Given the description of an element on the screen output the (x, y) to click on. 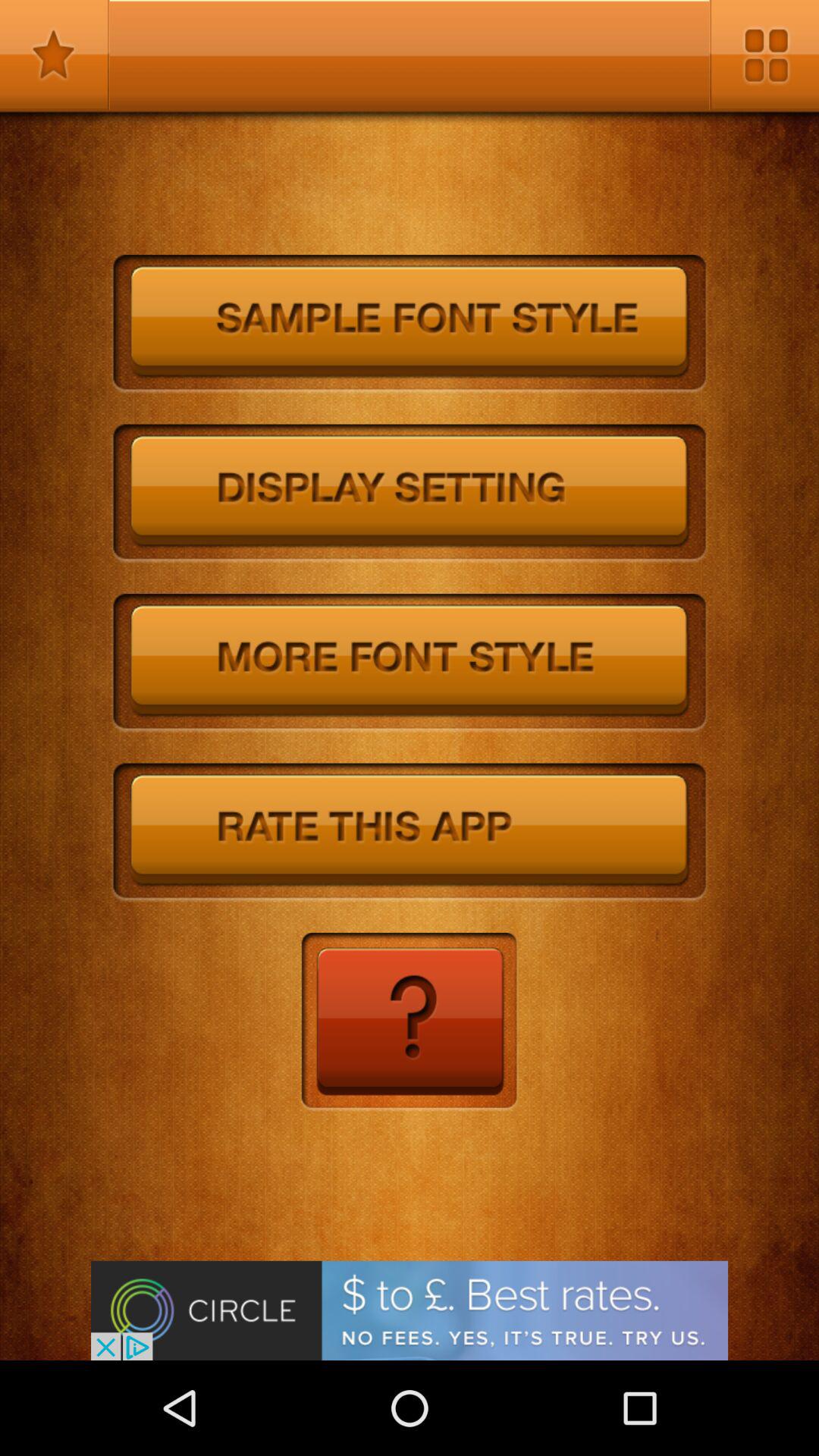
open app help (408, 1021)
